Given the description of an element on the screen output the (x, y) to click on. 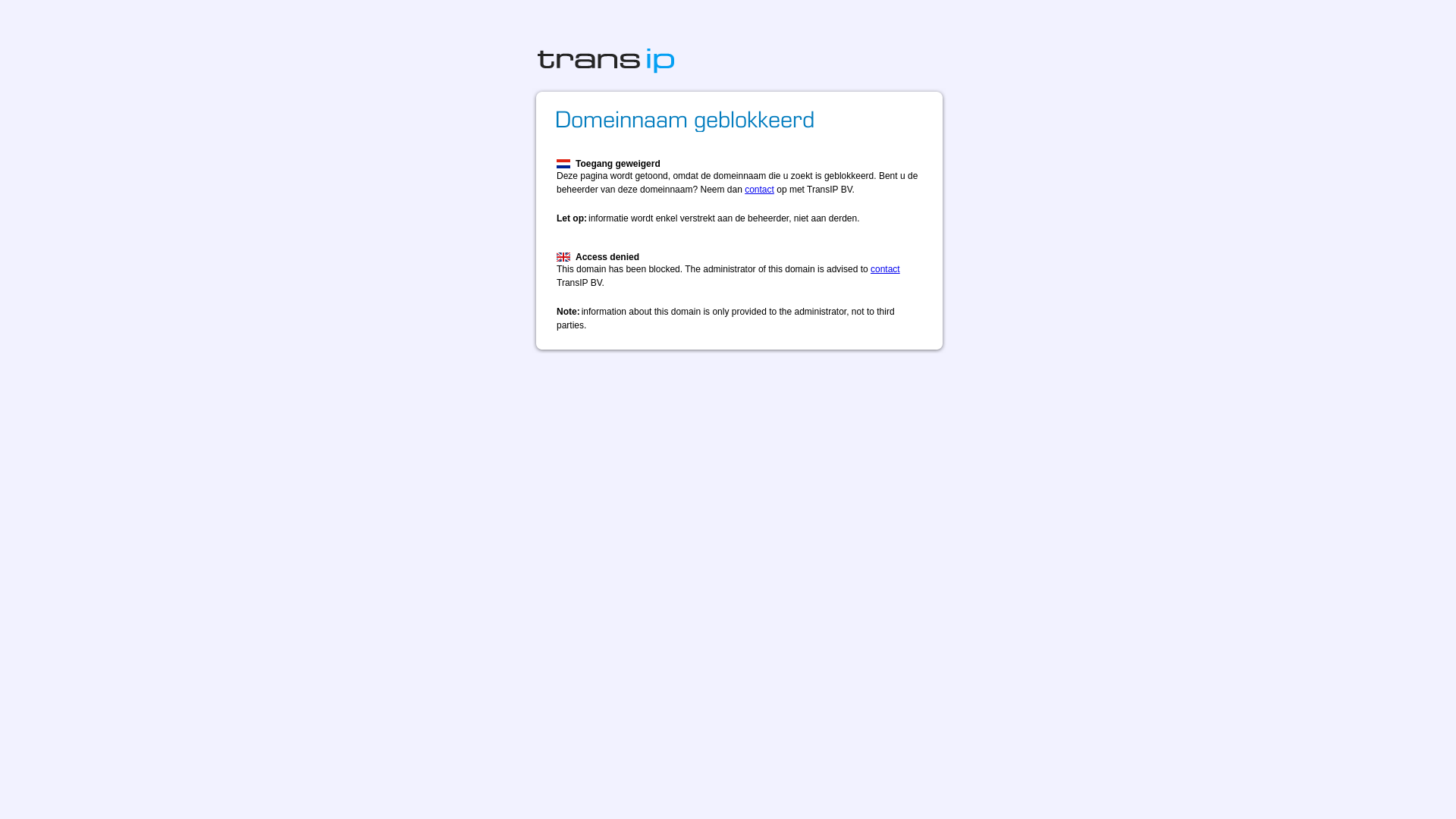
contact Element type: text (885, 268)
contact Element type: text (759, 189)
